Given the description of an element on the screen output the (x, y) to click on. 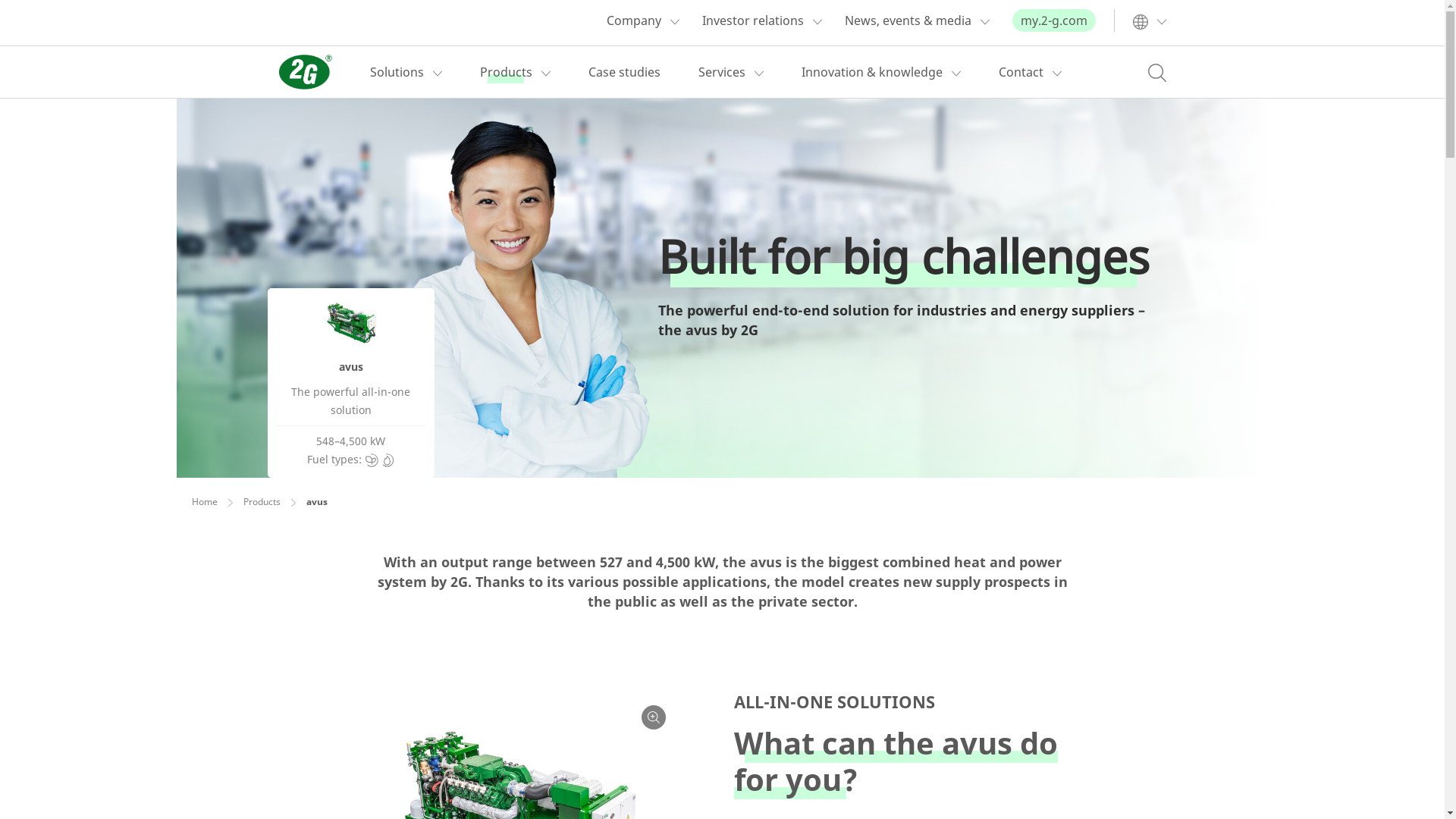
Services Element type: text (720, 71)
Contact Element type: text (1019, 71)
Products Element type: text (260, 501)
Home Element type: text (203, 501)
Innovation & knowledge Element type: text (870, 71)
Solutions Element type: text (396, 71)
Products Element type: text (505, 71)
Case studies Element type: text (624, 71)
